Given the description of an element on the screen output the (x, y) to click on. 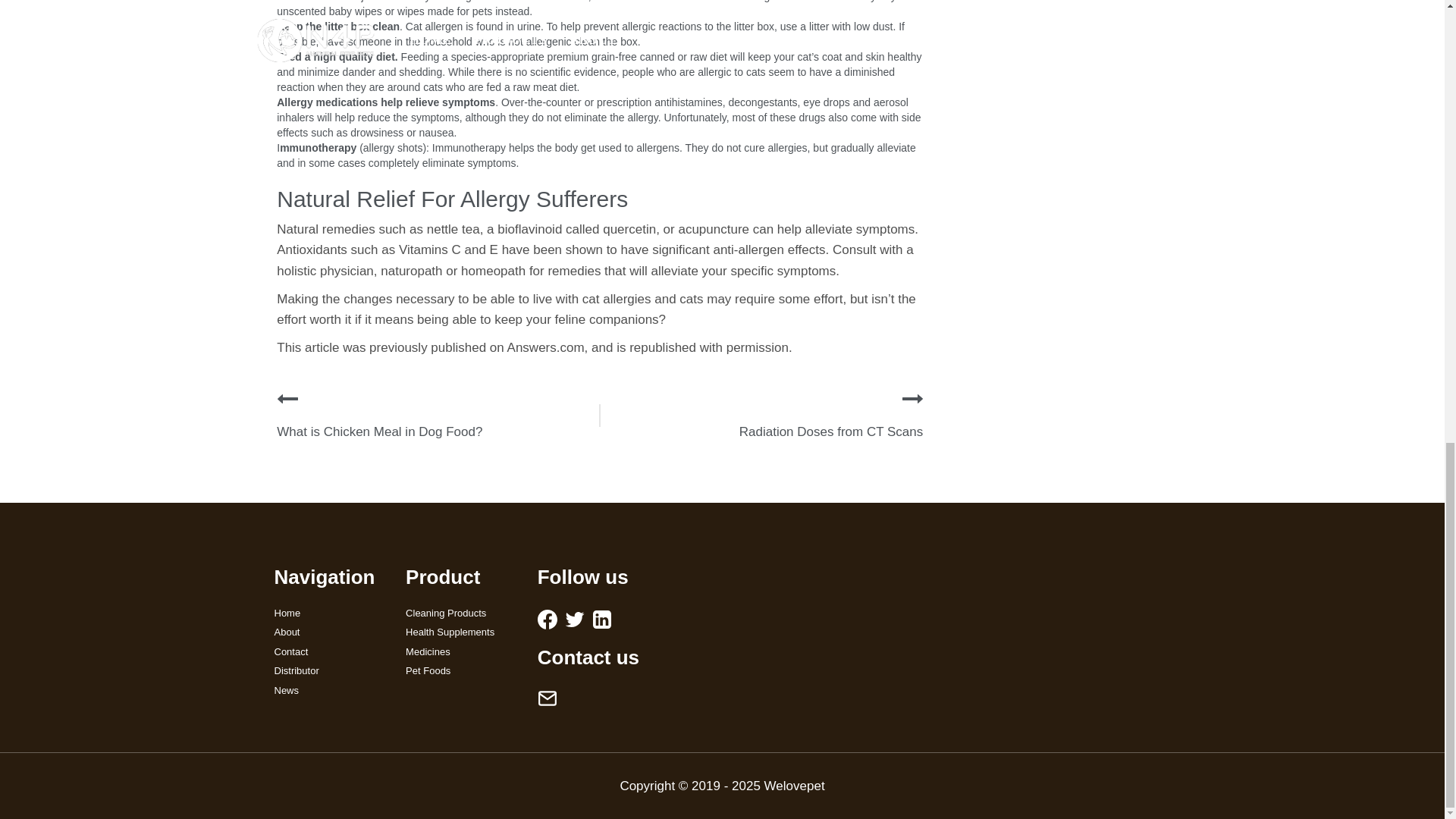
previous article (287, 398)
What is Chicken Meal in Dog Food? (378, 431)
Radiation Doses from CT Scans (831, 431)
Home (329, 613)
Linkedin (601, 619)
next article (912, 398)
Twitter (574, 619)
